Given the description of an element on the screen output the (x, y) to click on. 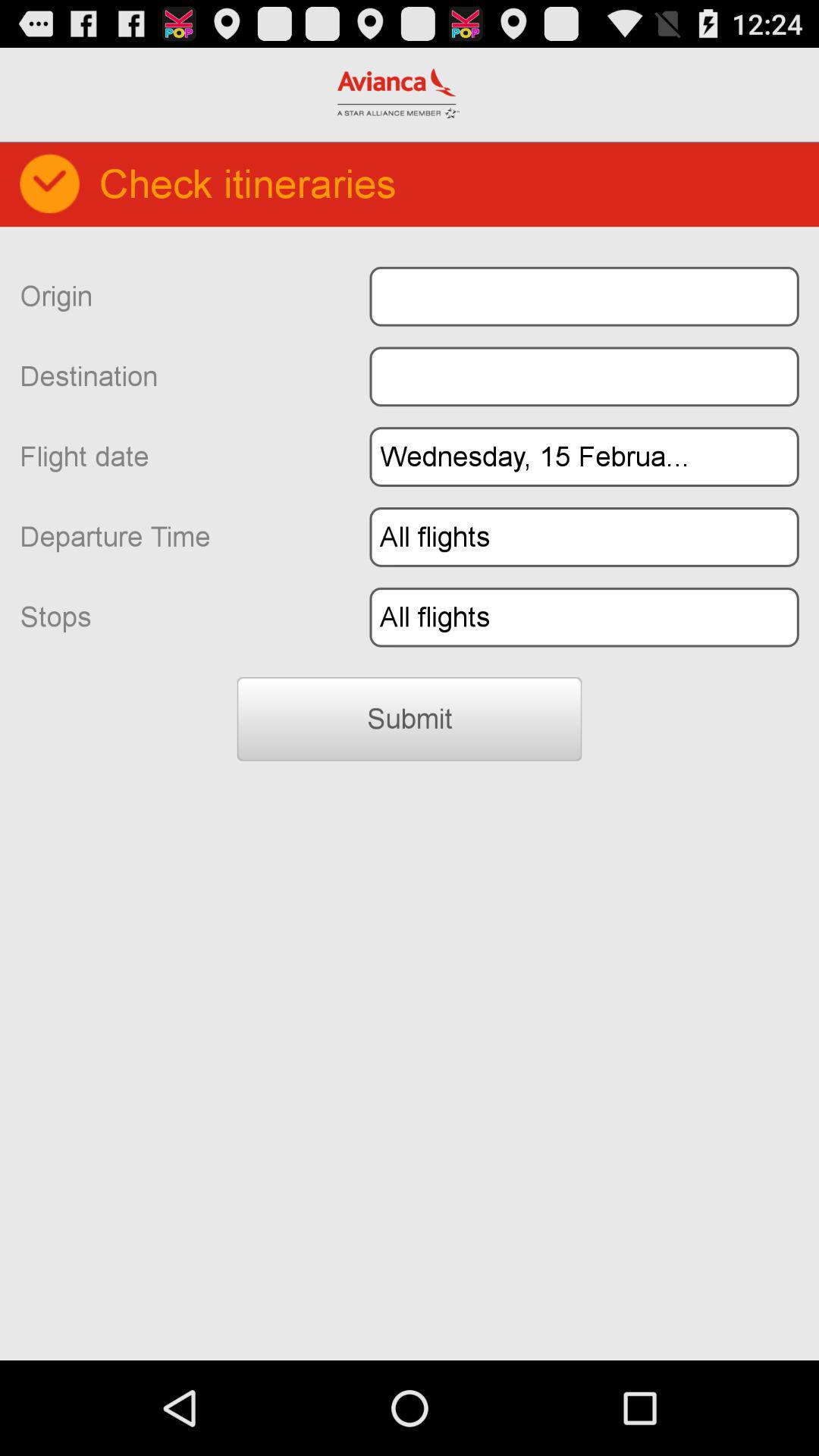
field box (584, 296)
